Given the description of an element on the screen output the (x, y) to click on. 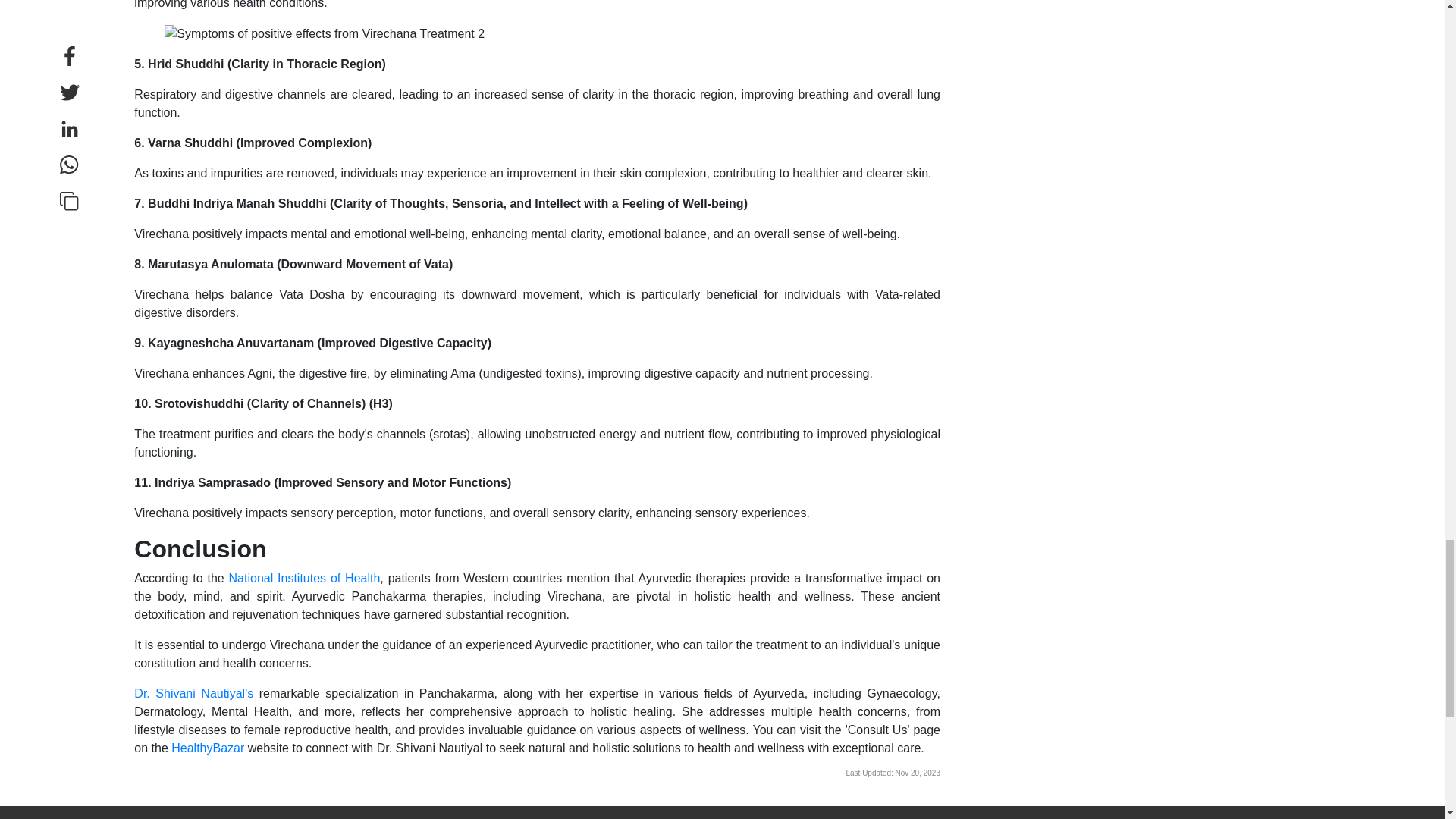
National Institutes of Health (304, 577)
HealthyBazar (207, 748)
Dr. Shivani Nautiyal's (193, 693)
